Given the description of an element on the screen output the (x, y) to click on. 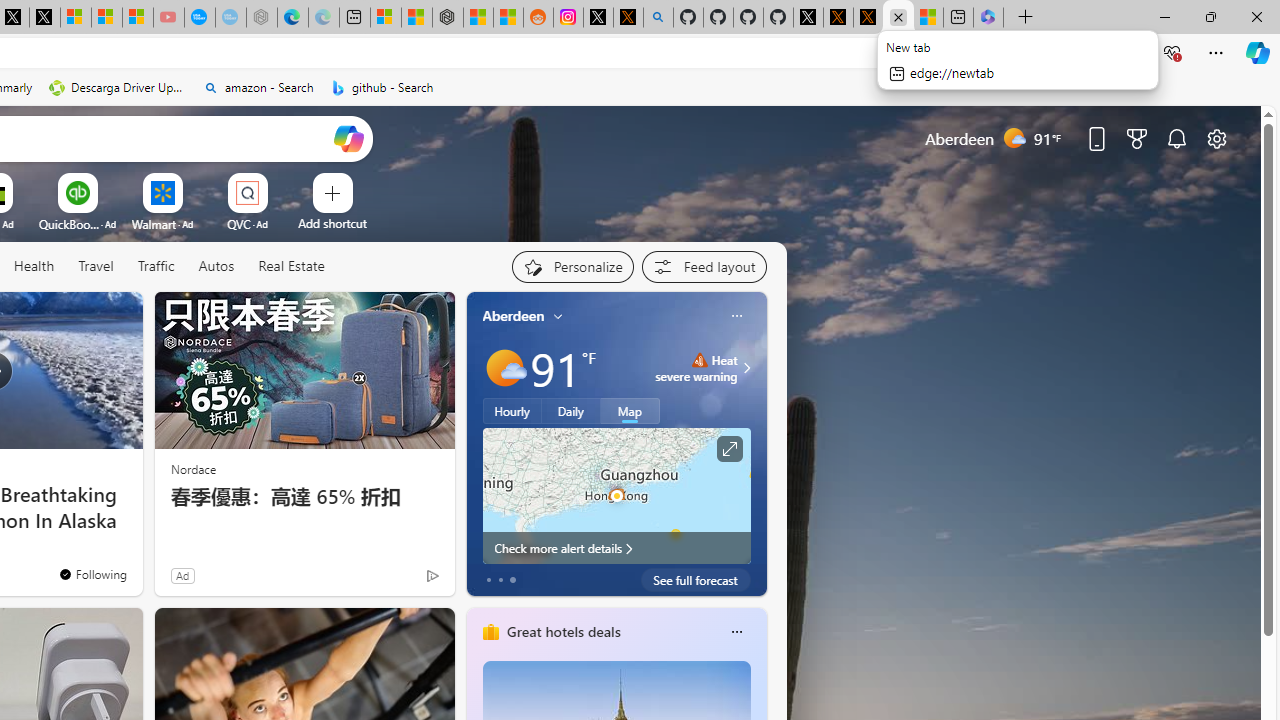
Microsoft account | Microsoft Account Privacy Settings (385, 17)
Daily (571, 411)
See full forecast (695, 579)
Autos (216, 267)
Opinion: Op-Ed and Commentary - USA TODAY (200, 17)
Shanghai, China Weather trends | Microsoft Weather (508, 17)
My location (558, 315)
Copilot (Ctrl+Shift+.) (1258, 52)
Page settings (1216, 138)
Notifications (1176, 138)
